Given the description of an element on the screen output the (x, y) to click on. 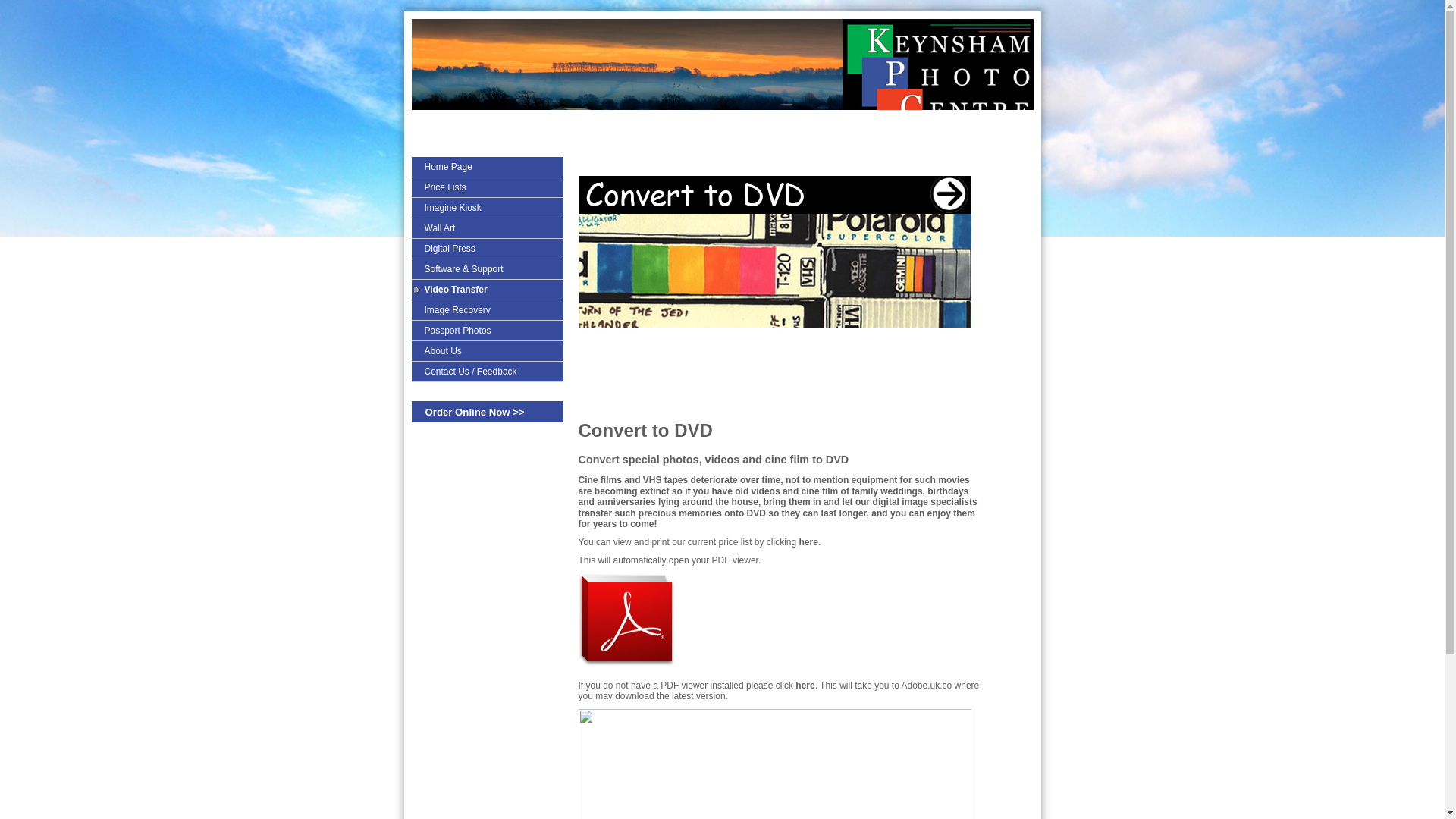
About Us (486, 350)
here (808, 542)
Convert special photos, videos and cine film to DVD (713, 459)
Passport Photos (486, 330)
here (803, 685)
Digital Press (486, 248)
Video Transfer (486, 289)
Imagine Kiosk (486, 207)
Price Lists (486, 186)
Home Page (486, 166)
Convert to DVD (644, 430)
Wall Art (486, 227)
Image Recovery (486, 309)
